Given the description of an element on the screen output the (x, y) to click on. 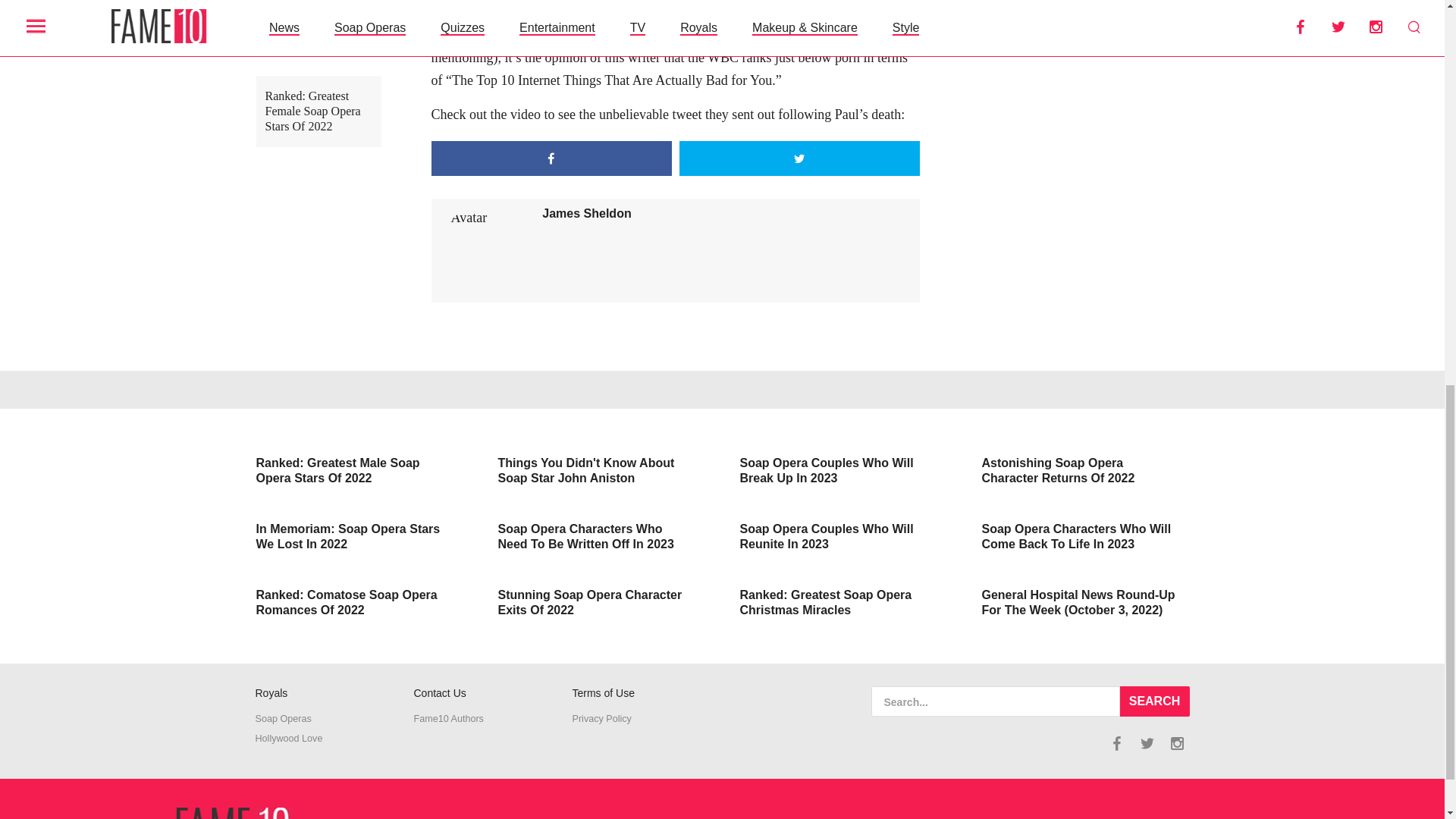
SEARCH (1154, 701)
Instagram (1177, 743)
Twitter (1146, 743)
Facebook (1116, 743)
